Given the description of an element on the screen output the (x, y) to click on. 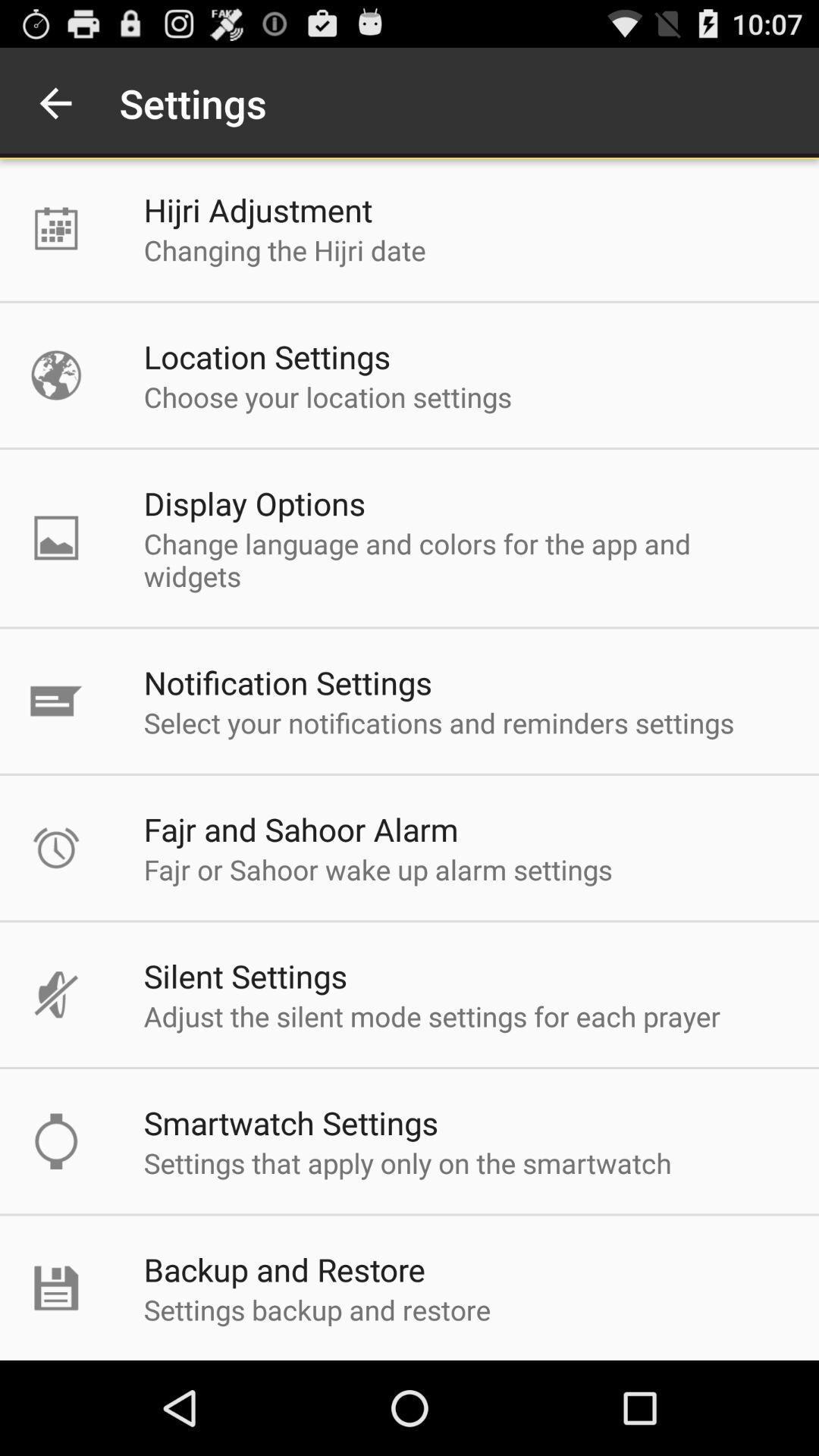
select the icon below settings icon (257, 209)
